Given the description of an element on the screen output the (x, y) to click on. 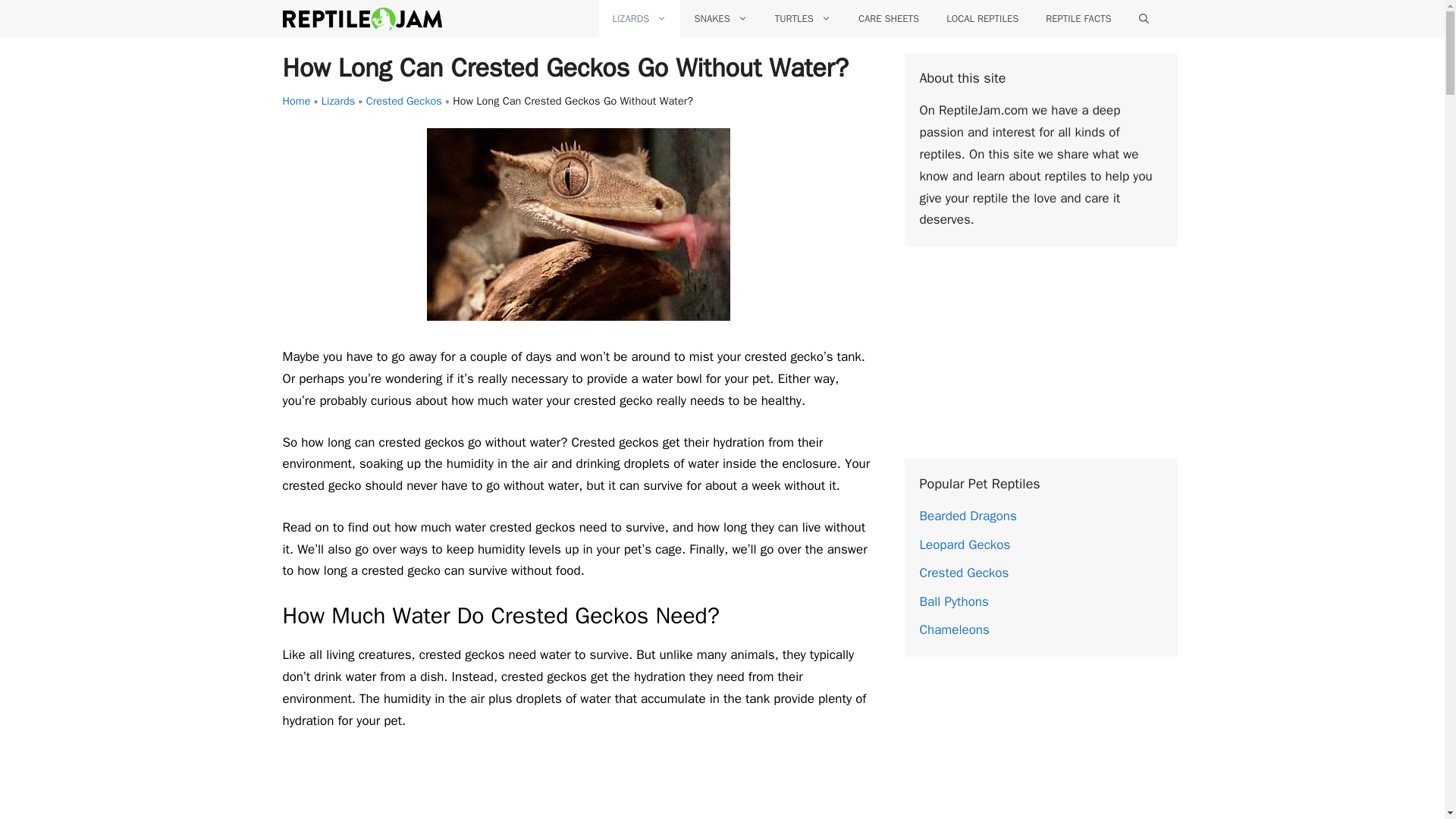
SNAKES (719, 18)
Reptile Jam (361, 18)
TURTLES (802, 18)
LIZARDS (639, 18)
